Given the description of an element on the screen output the (x, y) to click on. 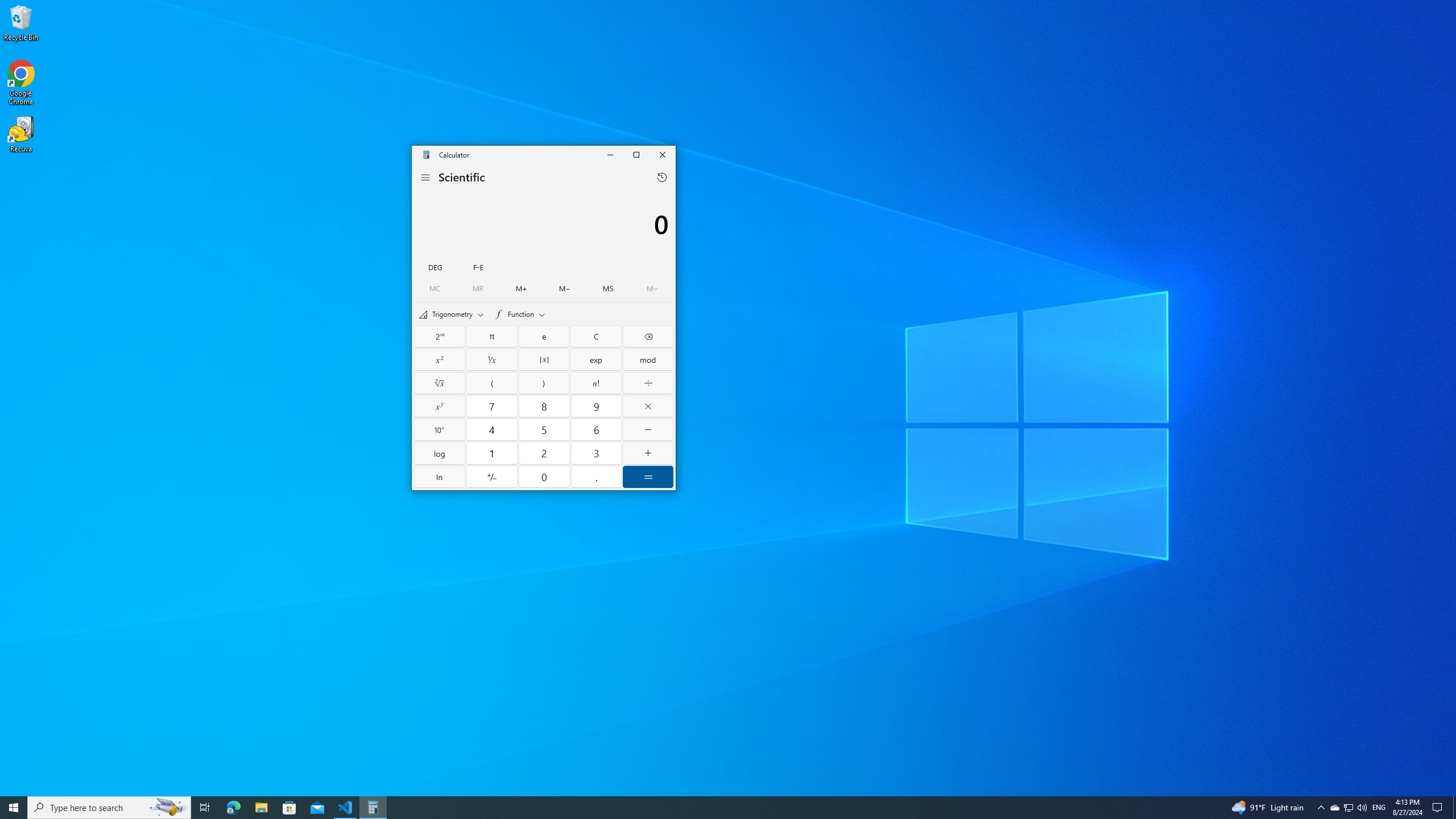
Open history flyout (661, 177)
Inverse function (439, 336)
Two (543, 453)
Absolute value (543, 359)
Memory recall (478, 288)
Eight (543, 406)
Plus (647, 453)
Calculator - 1 running window (373, 807)
Factorial (595, 382)
Five (543, 429)
